Given the description of an element on the screen output the (x, y) to click on. 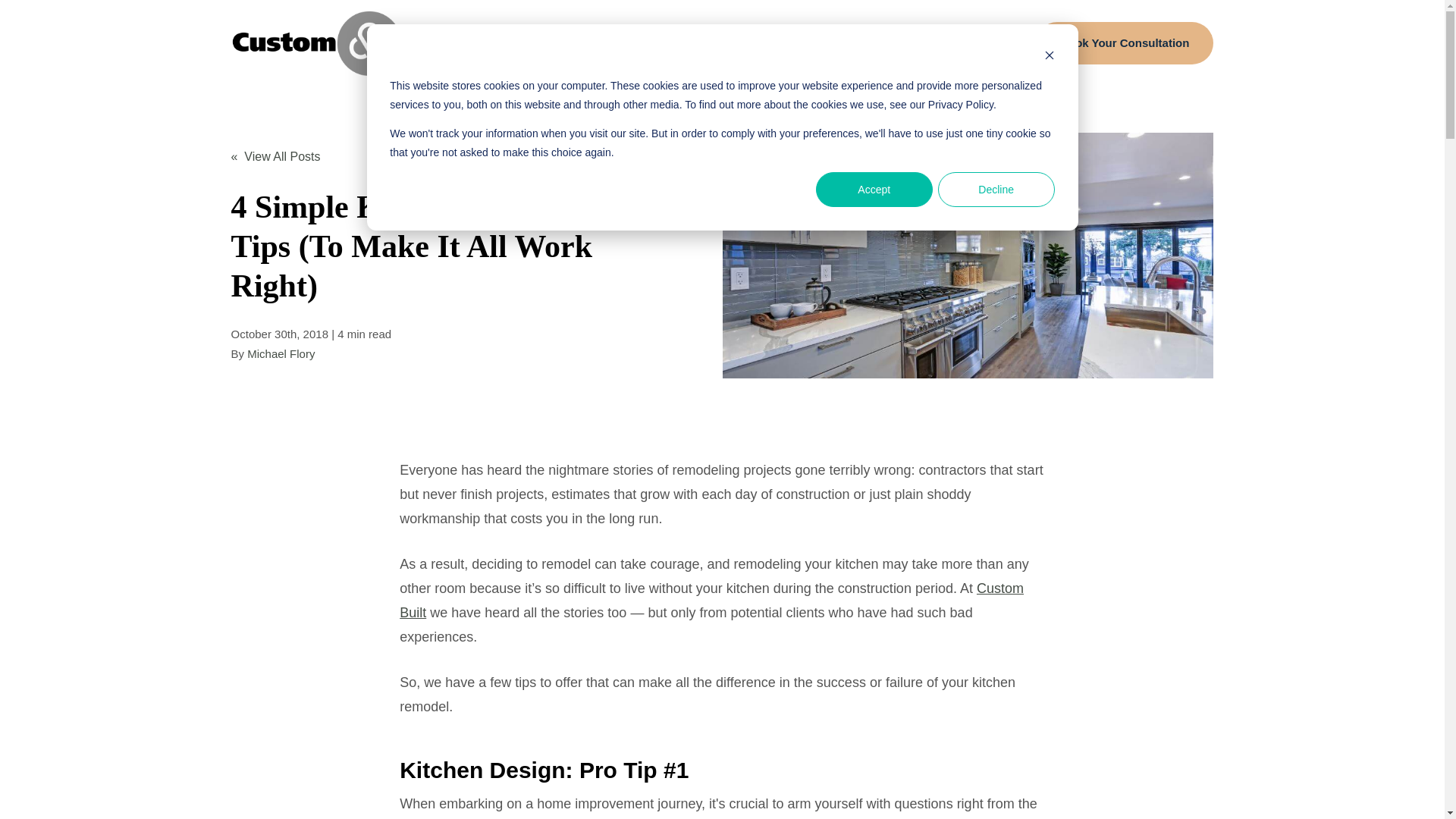
Book Your Consultation (1123, 43)
Open Search (1010, 42)
Michael Flory (280, 353)
